Given the description of an element on the screen output the (x, y) to click on. 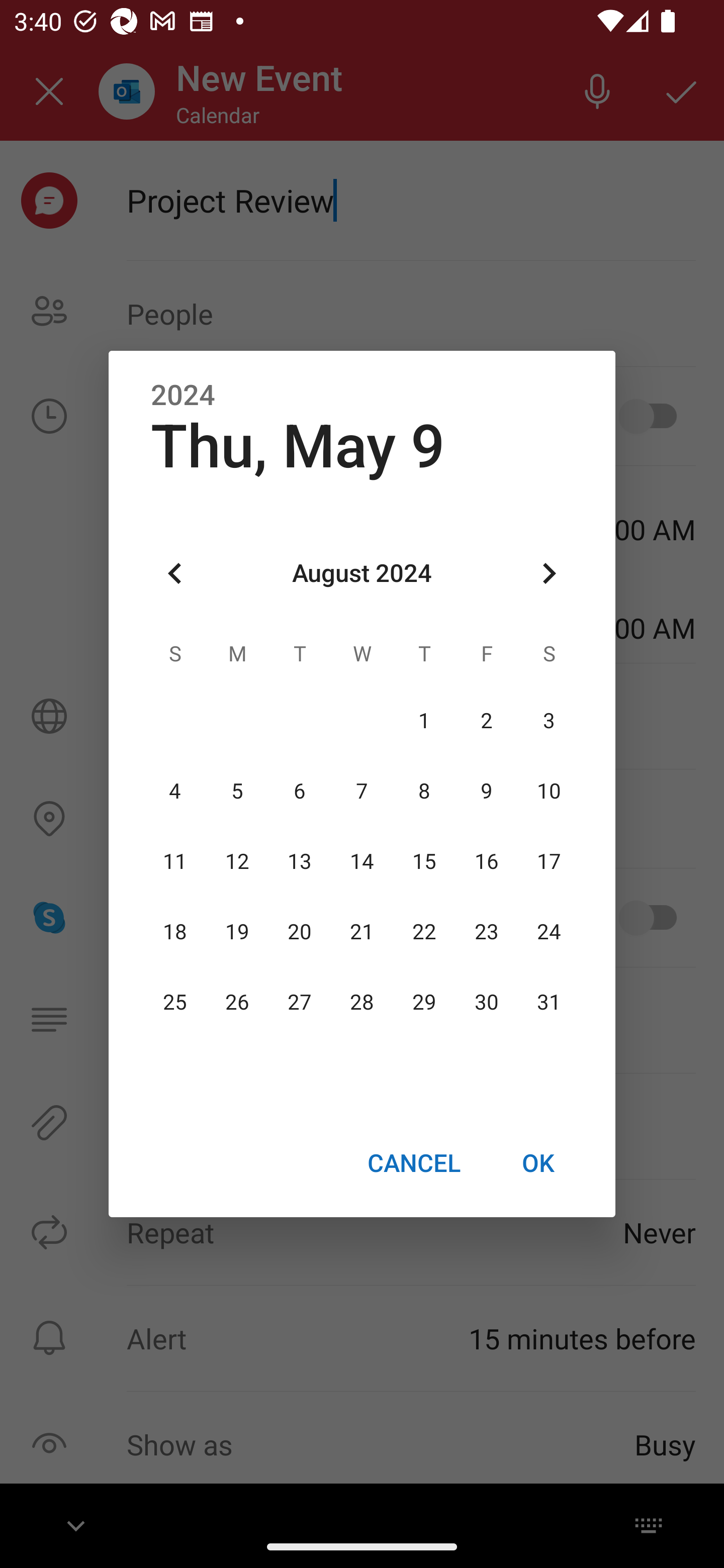
2024 (182, 395)
Thu, May 9 (297, 446)
Previous month (174, 573)
Next month (548, 573)
1 01 August 2024 (424, 720)
2 02 August 2024 (486, 720)
3 03 August 2024 (548, 720)
4 04 August 2024 (175, 790)
5 05 August 2024 (237, 790)
6 06 August 2024 (299, 790)
7 07 August 2024 (361, 790)
8 08 August 2024 (424, 790)
9 09 August 2024 (486, 790)
10 10 August 2024 (548, 790)
11 11 August 2024 (175, 861)
12 12 August 2024 (237, 861)
13 13 August 2024 (299, 861)
14 14 August 2024 (361, 861)
15 15 August 2024 (424, 861)
16 16 August 2024 (486, 861)
17 17 August 2024 (548, 861)
18 18 August 2024 (175, 931)
19 19 August 2024 (237, 931)
20 20 August 2024 (299, 931)
21 21 August 2024 (361, 931)
22 22 August 2024 (424, 931)
23 23 August 2024 (486, 931)
24 24 August 2024 (548, 931)
25 25 August 2024 (175, 1002)
26 26 August 2024 (237, 1002)
27 27 August 2024 (299, 1002)
28 28 August 2024 (361, 1002)
29 29 August 2024 (424, 1002)
30 30 August 2024 (486, 1002)
31 31 August 2024 (548, 1002)
CANCEL (413, 1162)
OK (537, 1162)
